Given the description of an element on the screen output the (x, y) to click on. 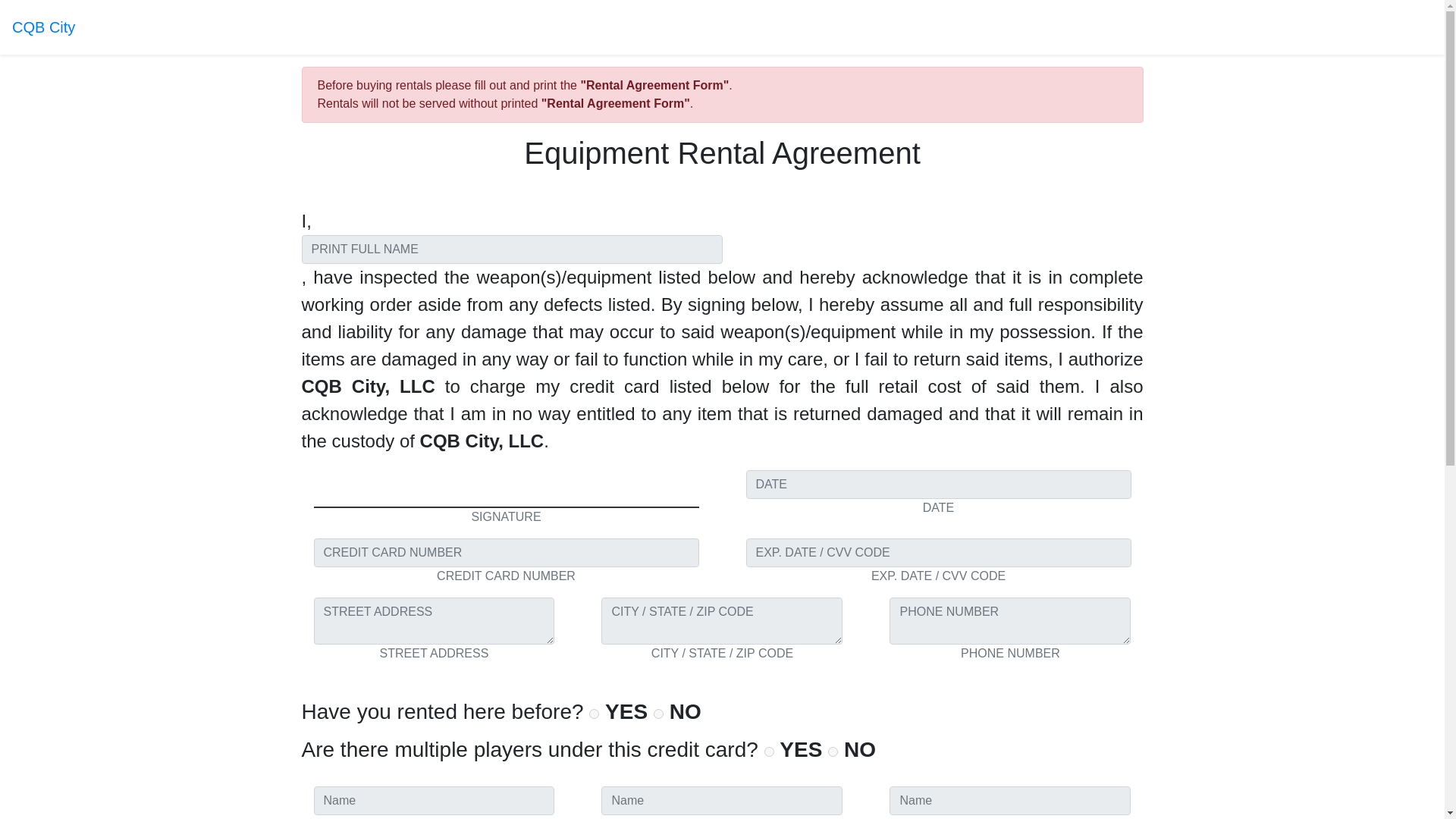
YES (593, 714)
CQB City (43, 27)
NO (658, 714)
YES (769, 751)
NO (833, 751)
